Given the description of an element on the screen output the (x, y) to click on. 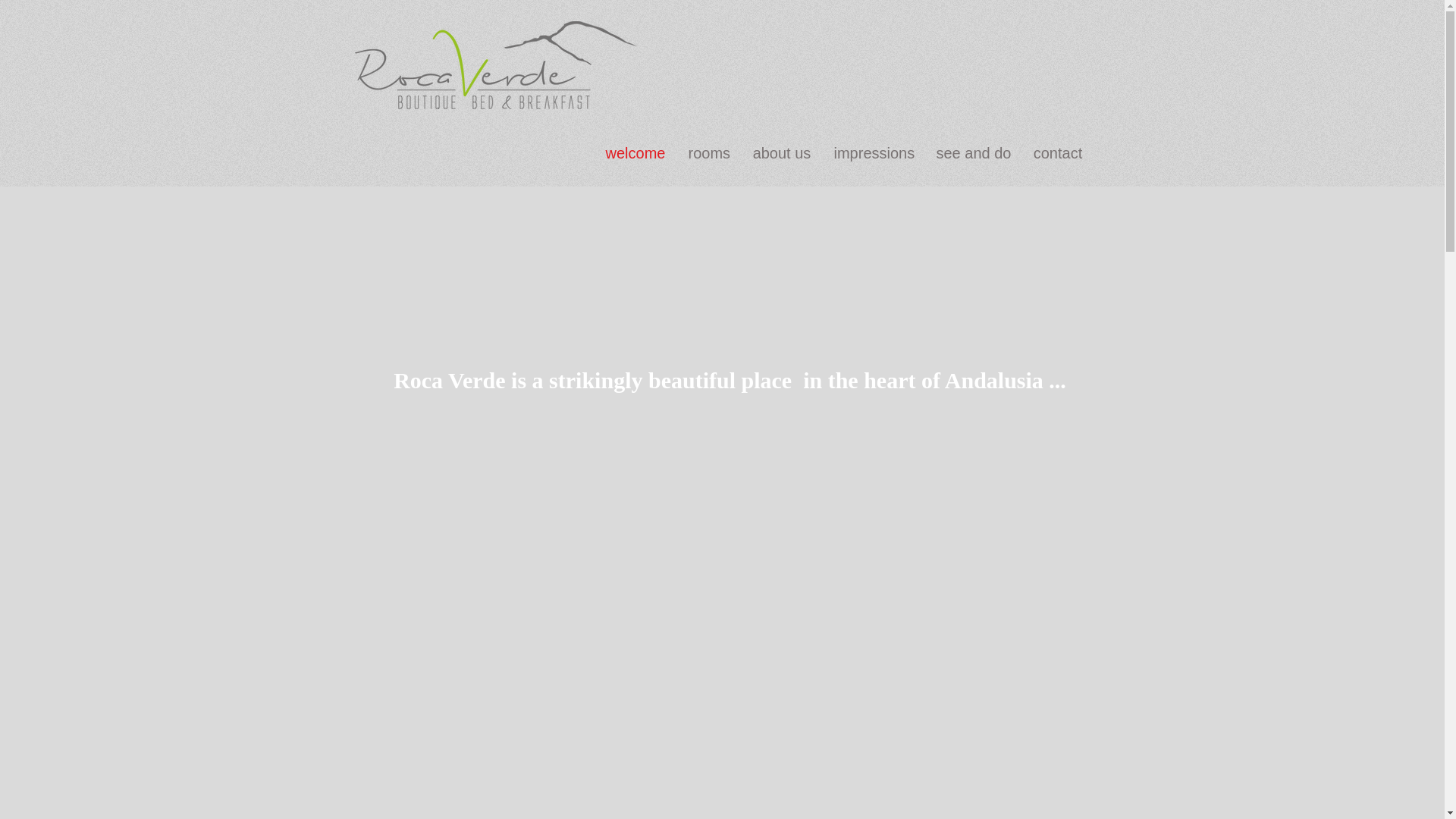
impressions (873, 153)
contact (1058, 153)
rooms (709, 153)
see and do (973, 153)
welcome (635, 153)
